Given the description of an element on the screen output the (x, y) to click on. 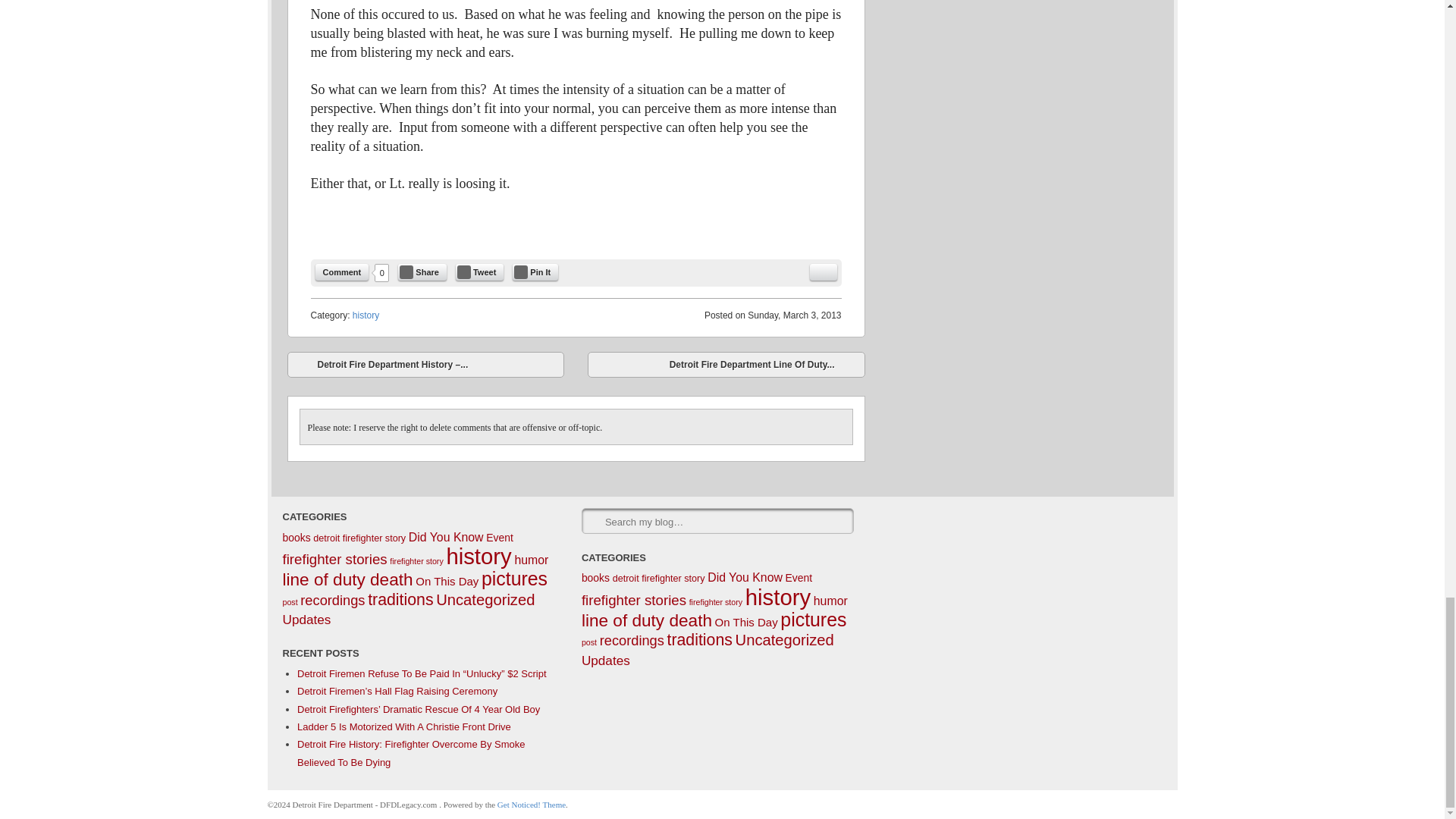
Comment on this Post (342, 271)
Tweet this Post (479, 271)
Tweet (479, 271)
Pin it. (534, 271)
history (365, 315)
Pin It (534, 271)
email (823, 271)
Comment (342, 271)
Share on Facebook (421, 271)
Share (421, 271)
